Given the description of an element on the screen output the (x, y) to click on. 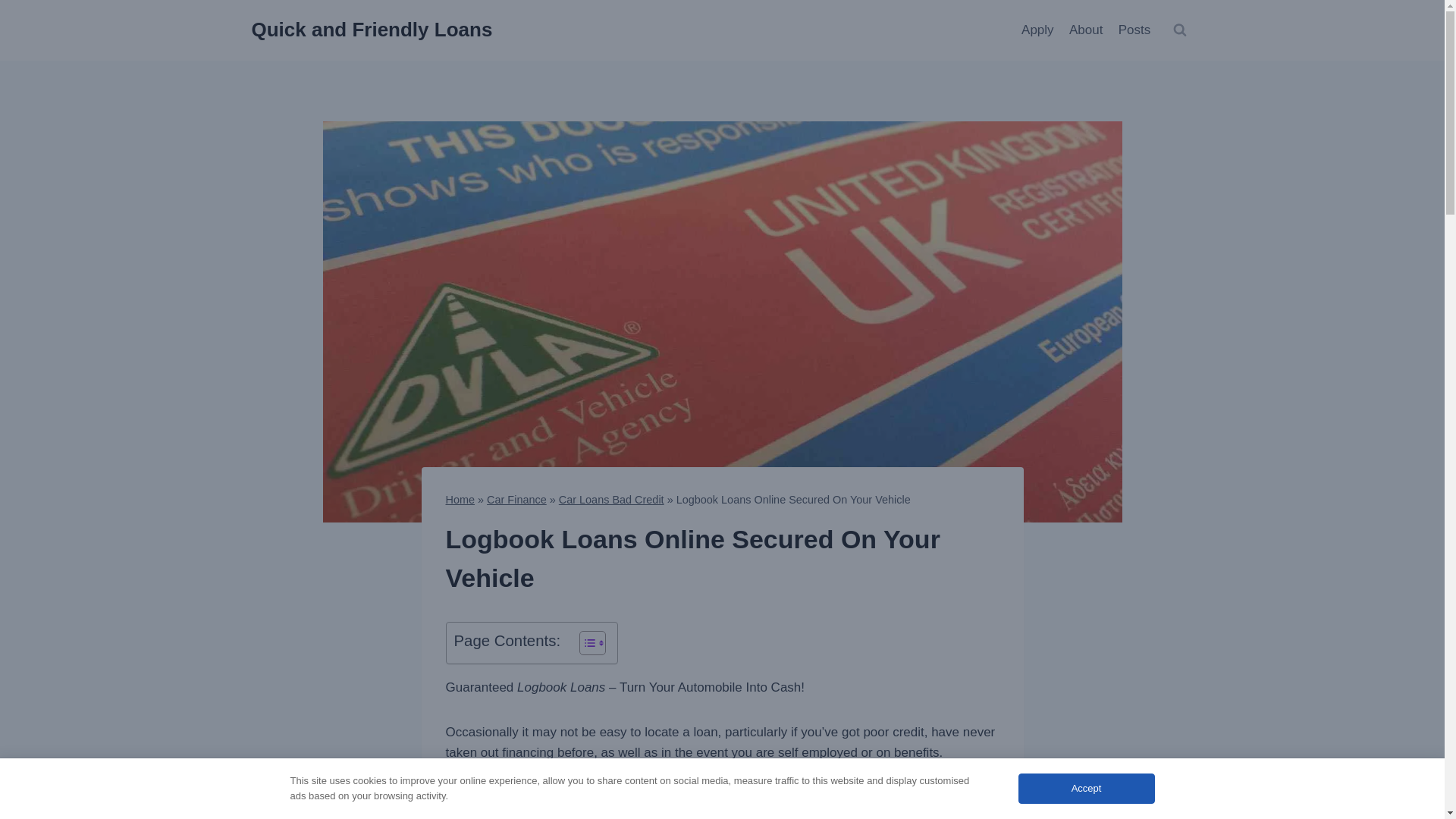
About (1085, 30)
Car Loans Bad Credit (611, 499)
Car Finance (516, 499)
Apply (1037, 30)
Home (460, 499)
Posts (1134, 30)
Quick and Friendly Loans (372, 29)
